Given the description of an element on the screen output the (x, y) to click on. 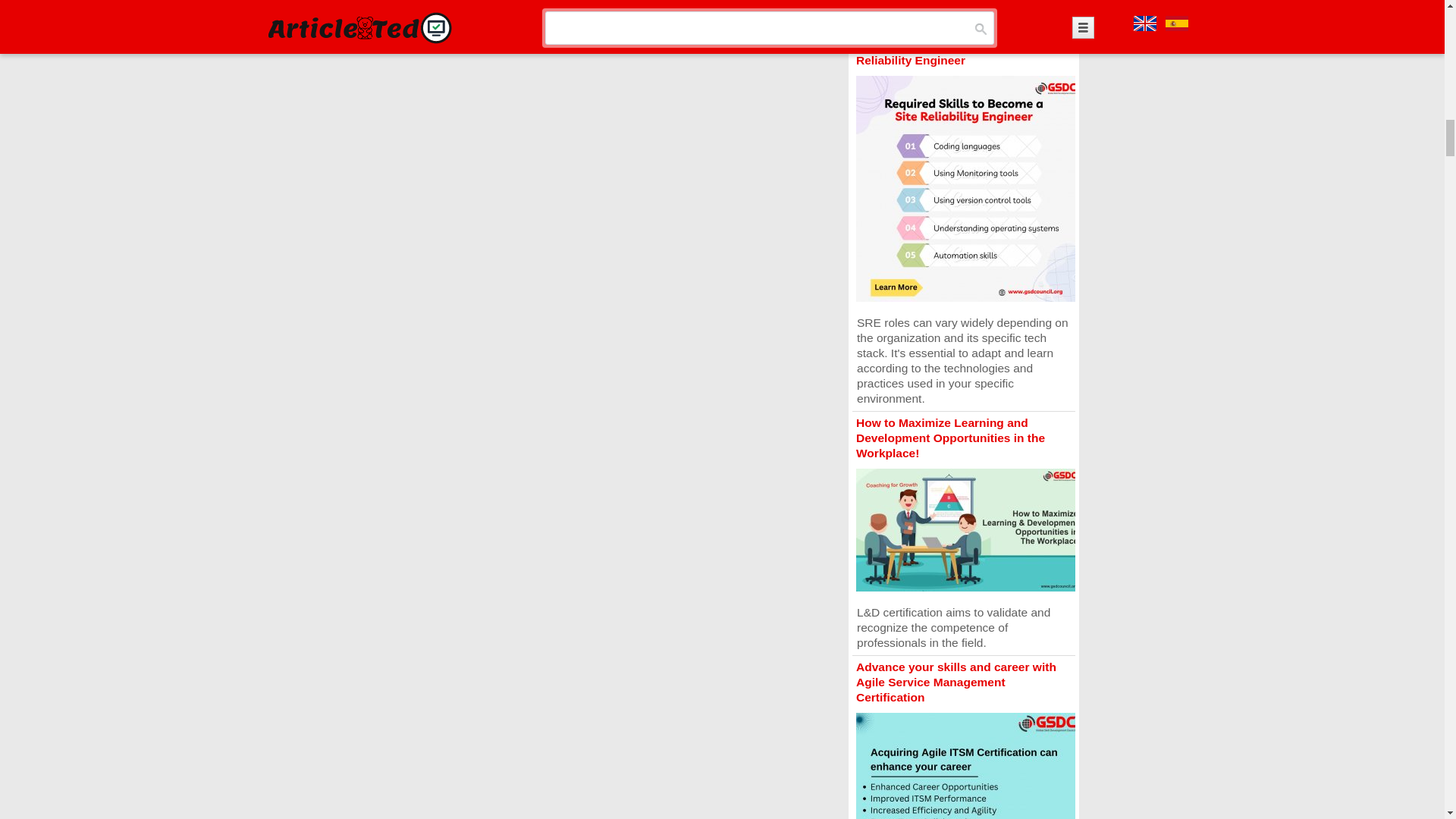
Required Skills to Become a Site Reliability Engineer (947, 52)
